Given the description of an element on the screen output the (x, y) to click on. 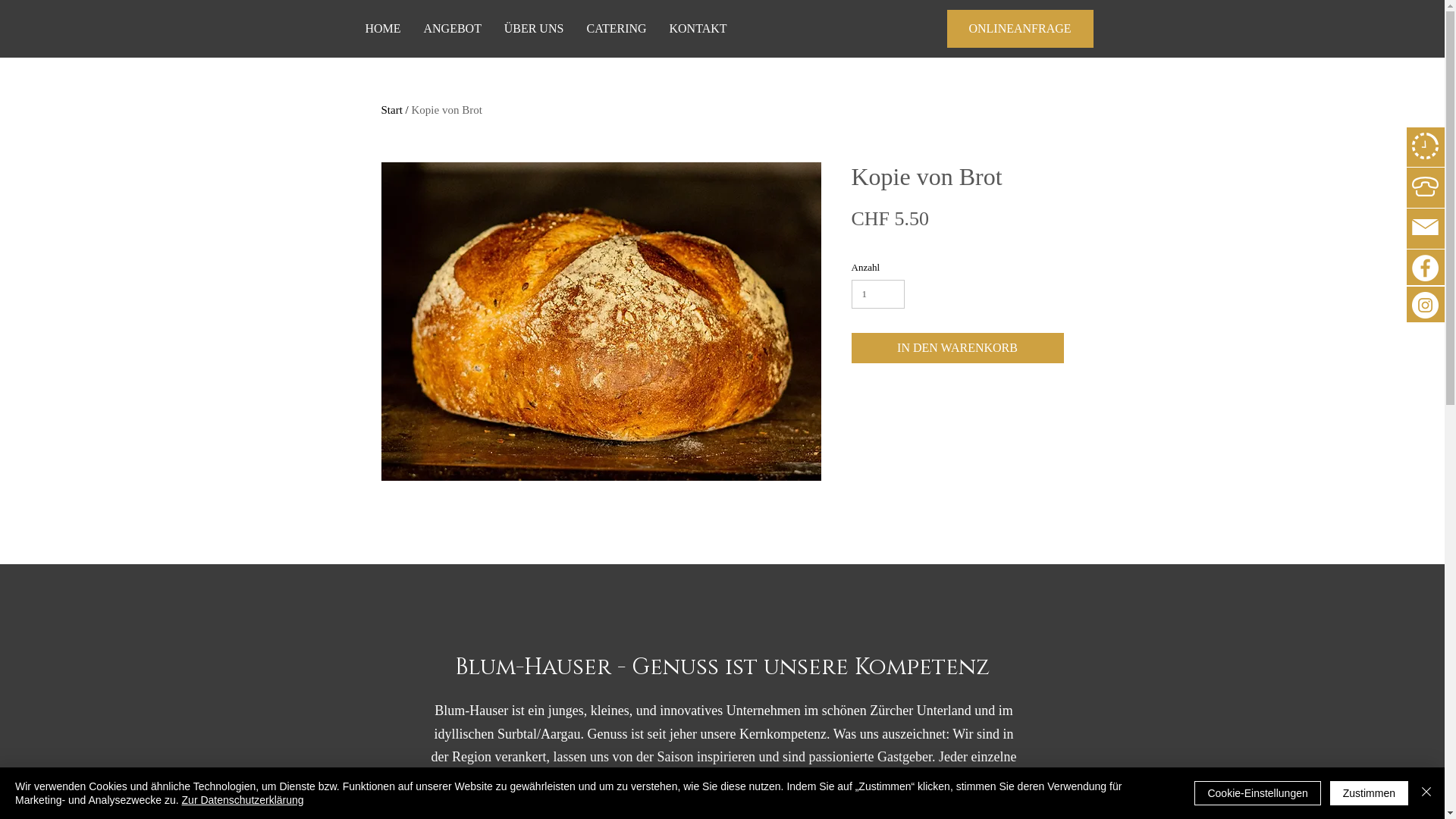
Cookie-Einstellungen Element type: text (1257, 793)
Home Element type: text (394, 109)
HOME Element type: text (382, 28)
KONTAKT Element type: text (698, 28)
ONLINEANFRAGE Element type: text (1019, 28)
Zustimmen Element type: text (1369, 793)
IN DEN WARENKORB Element type: text (956, 347)
CATERING Element type: text (615, 28)
